Given the description of an element on the screen output the (x, y) to click on. 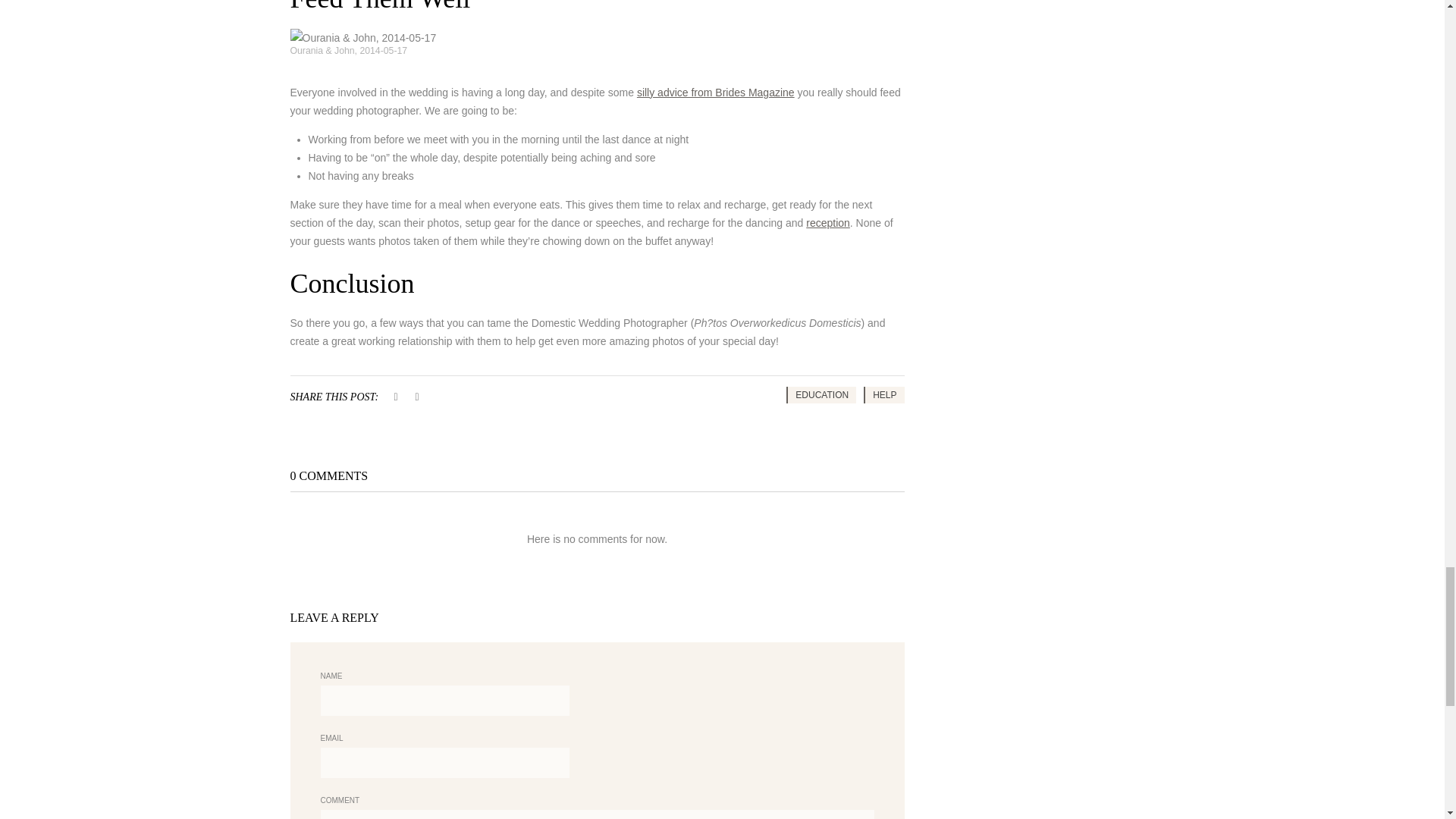
EDUCATION (821, 394)
reception (828, 223)
HELP (883, 394)
silly advice from Brides Magazine (715, 92)
